Given the description of an element on the screen output the (x, y) to click on. 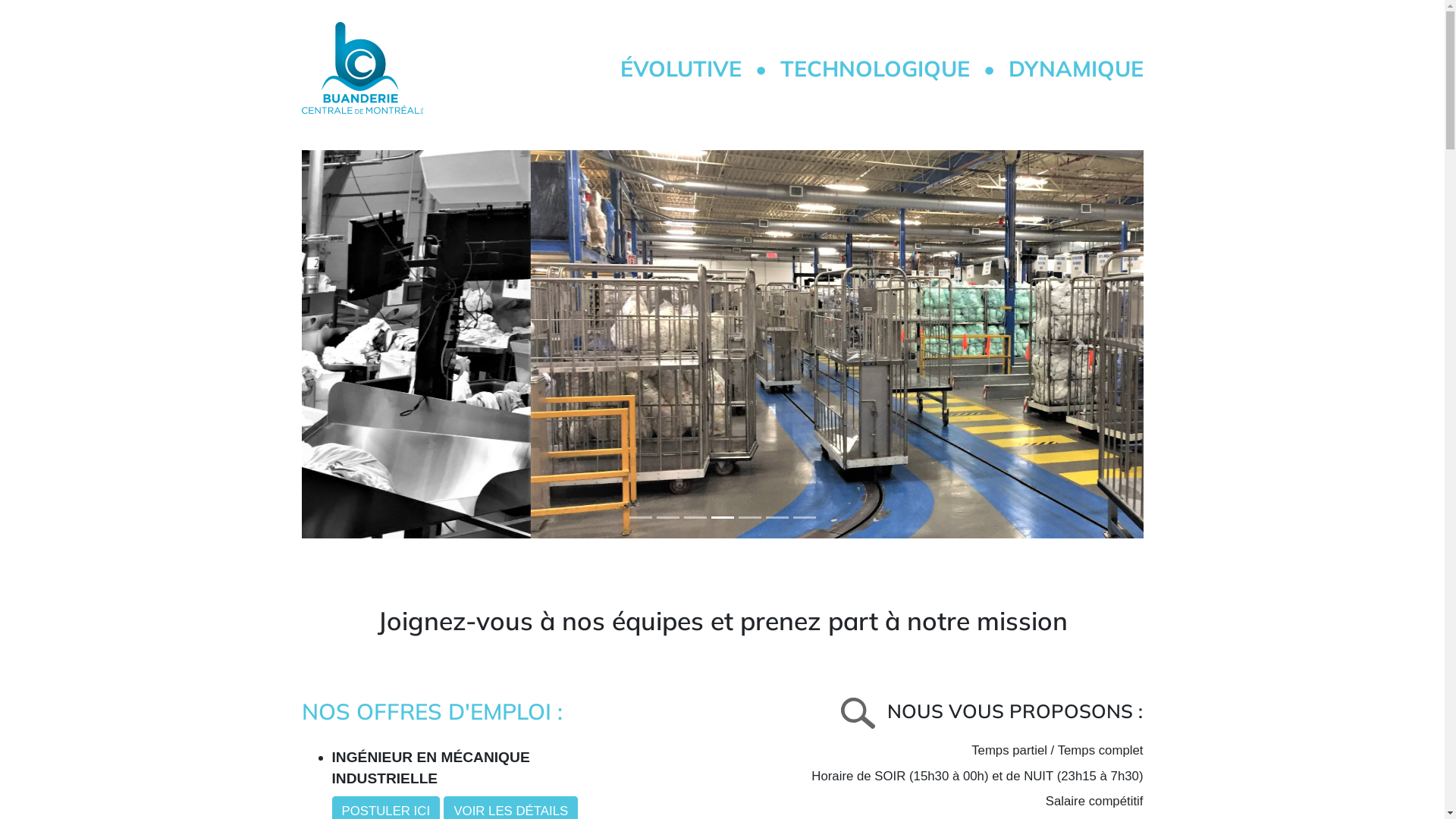
Suivant Element type: text (1079, 344)
